Given the description of an element on the screen output the (x, y) to click on. 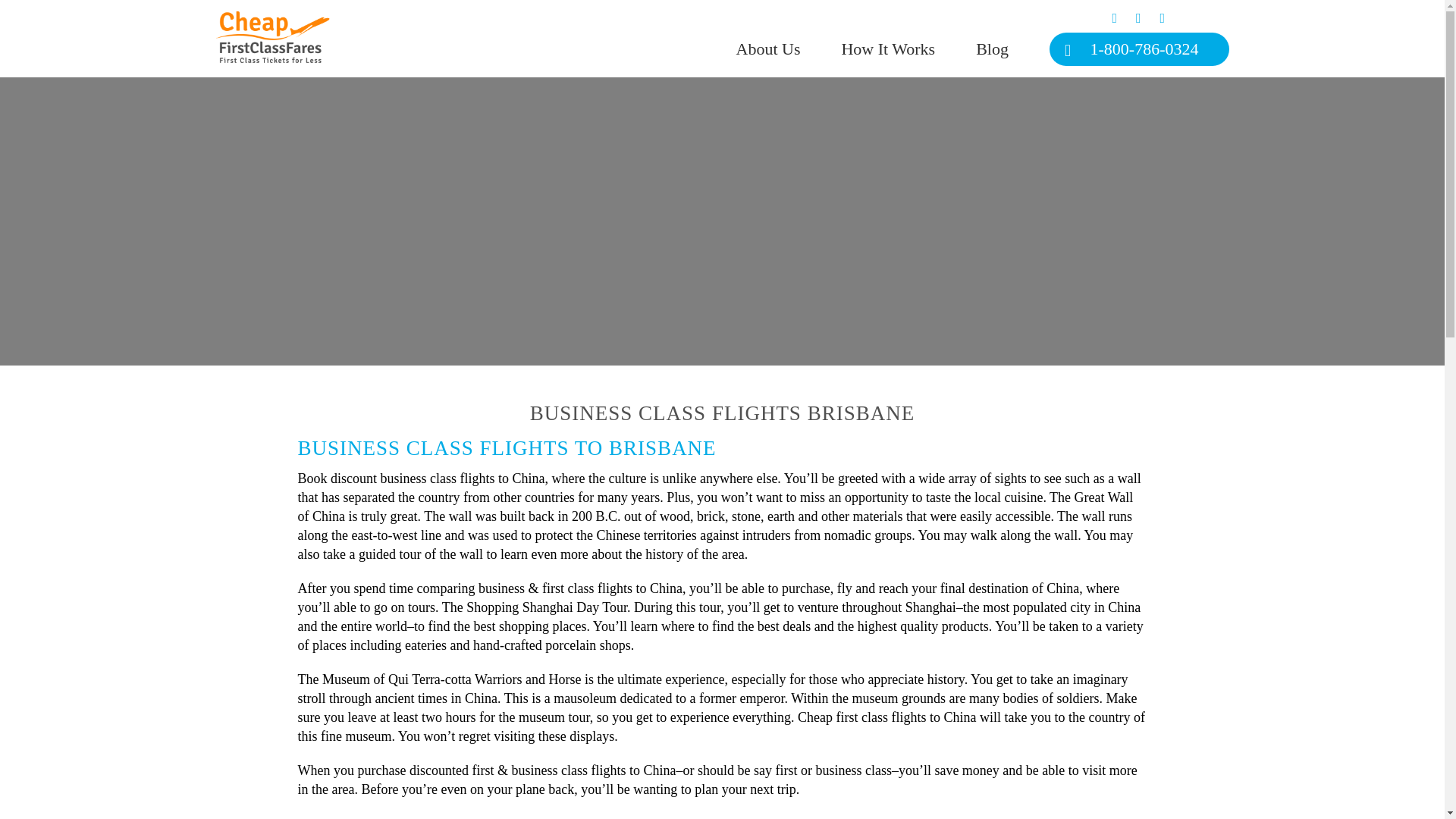
1-800-786-0324 (1138, 49)
About Us (786, 49)
Blog (1010, 49)
How It Works (906, 49)
